Given the description of an element on the screen output the (x, y) to click on. 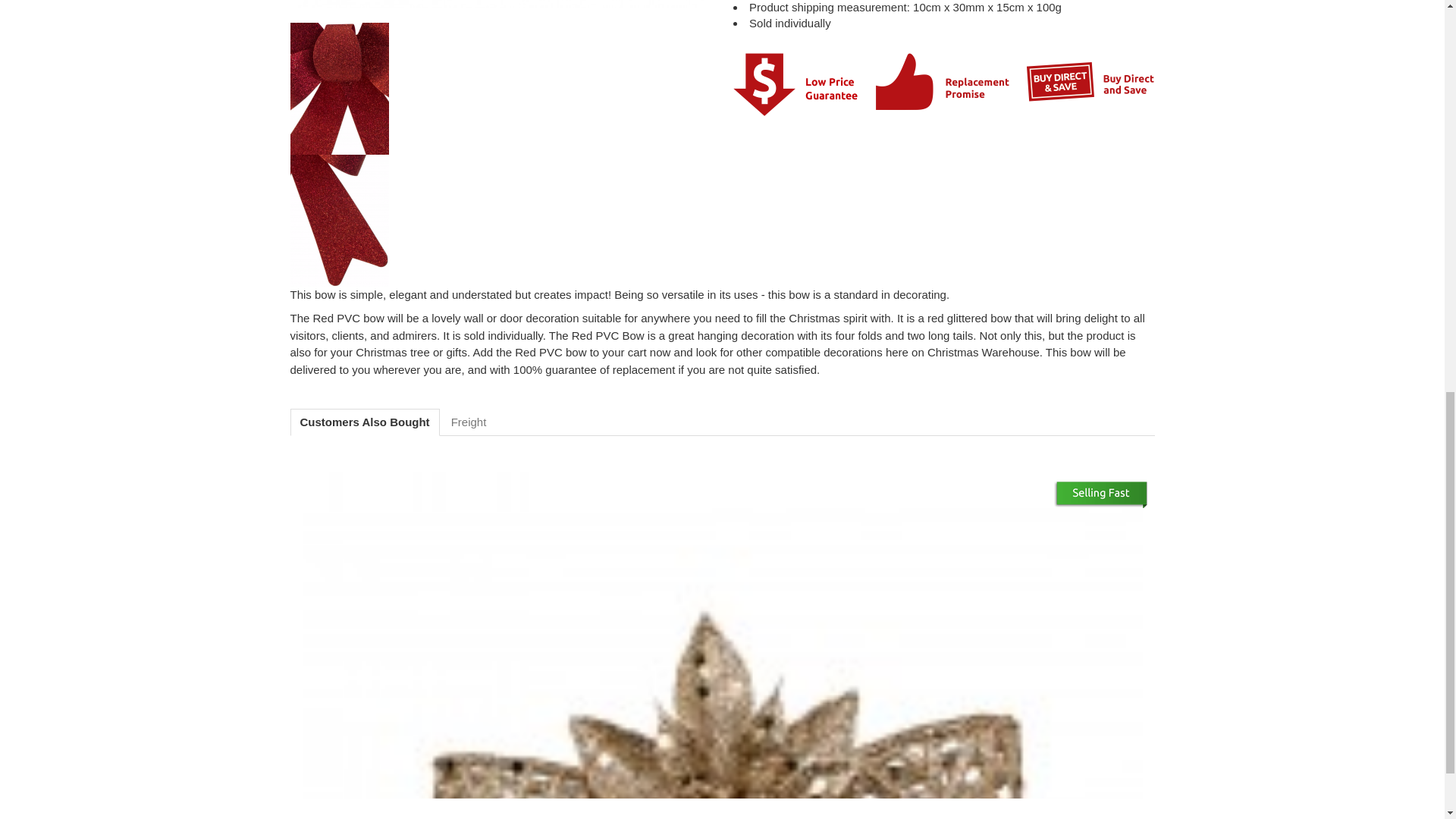
Red Glitter PVC Christmas Tree Bow Decoration - 24cm (500, 3)
